Given the description of an element on the screen output the (x, y) to click on. 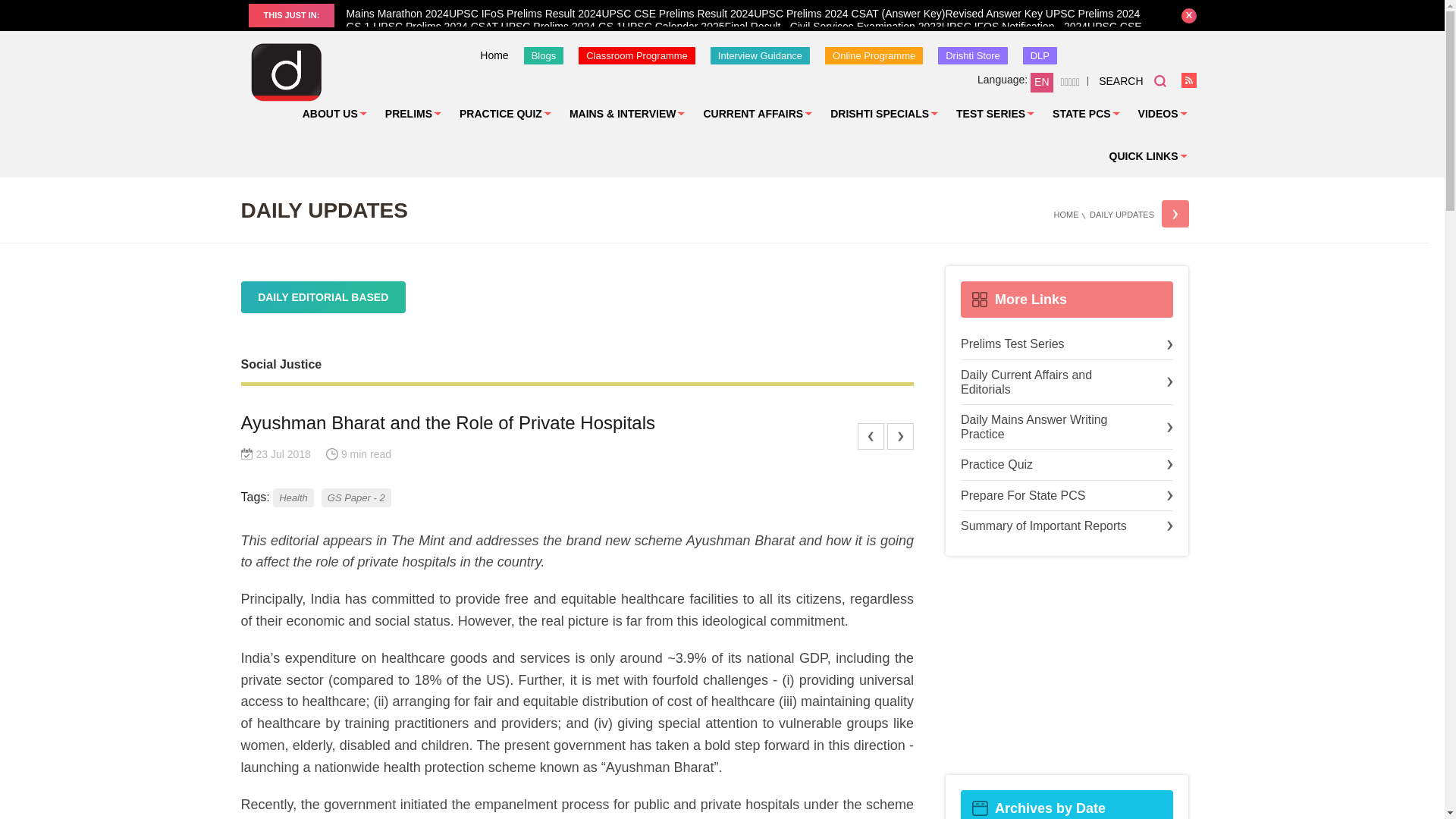
RSS (1188, 79)
SEARCH (1132, 80)
UPSC Calendar 2025 (674, 26)
UPSC Prelims 2024 GS 1 (560, 26)
UPSC IFOS Notification - 2024 (1014, 26)
EN (1041, 82)
Final Result - Civil Services Examination 2023 (833, 26)
ABOUT US (334, 113)
UPSC IFoS Prelims Result 2024 (525, 13)
UPSC Prelims 2024 CSAT (434, 26)
